Given the description of an element on the screen output the (x, y) to click on. 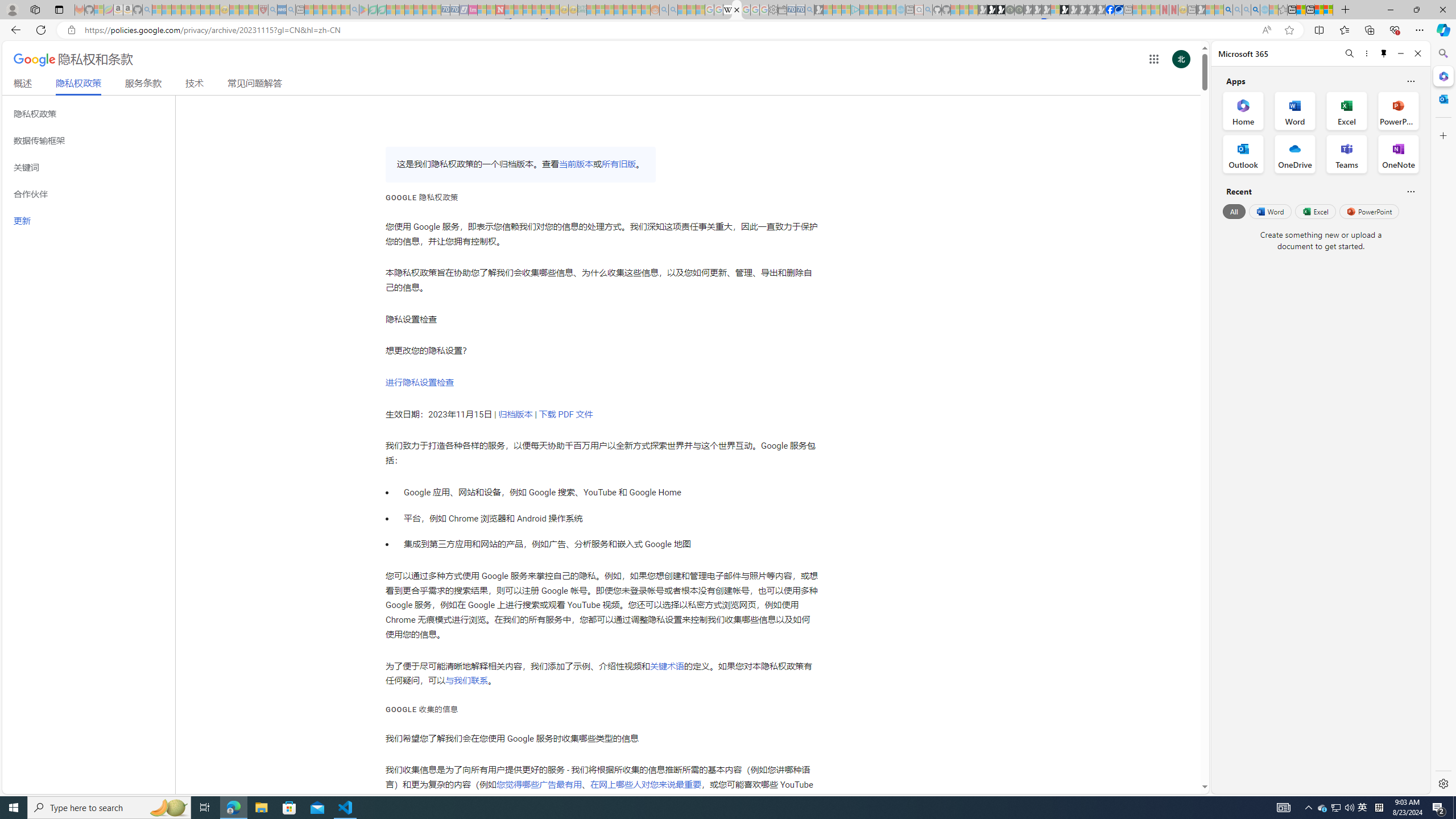
OneDrive Office App (1295, 154)
Nordace | Facebook (1109, 9)
